Given the description of an element on the screen output the (x, y) to click on. 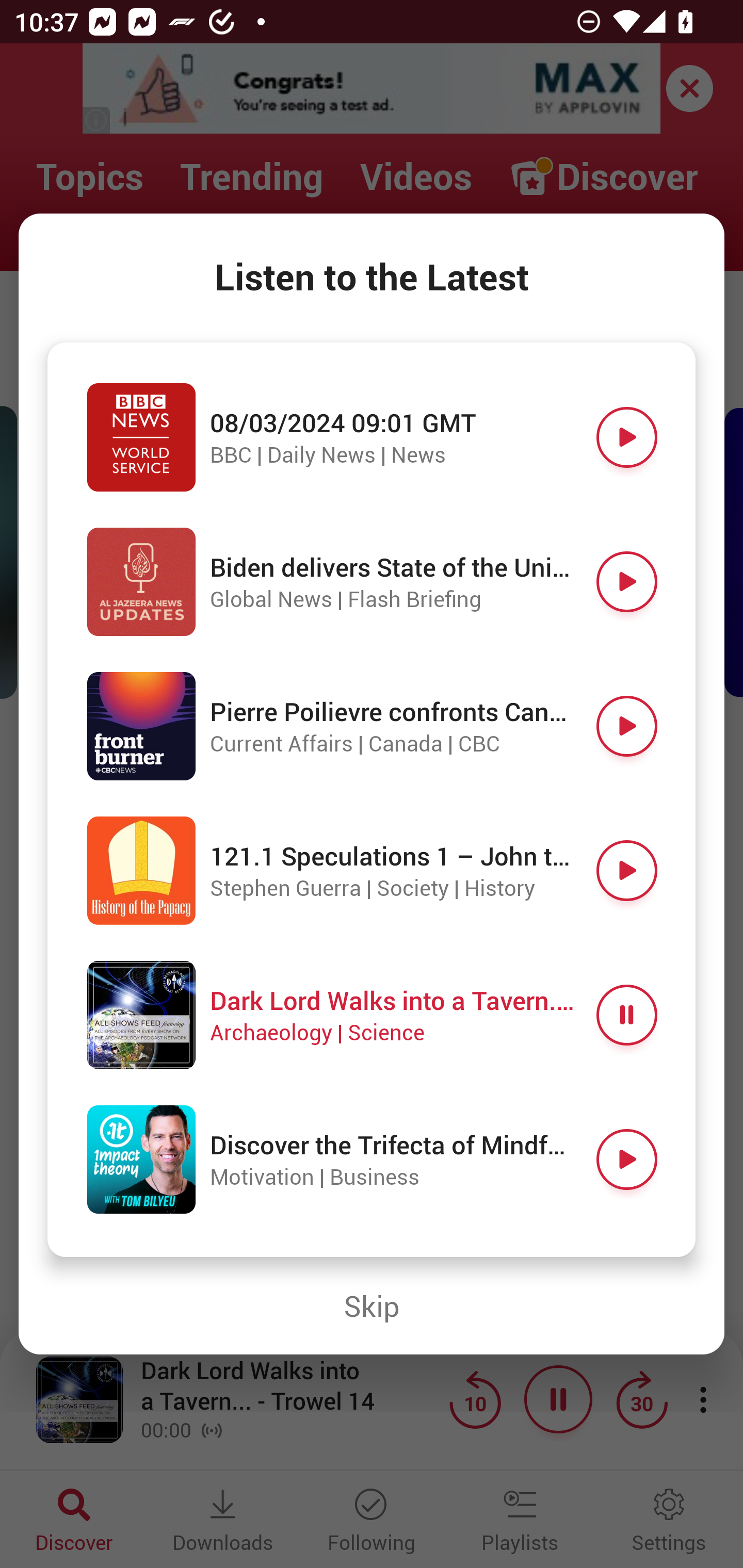
Skip (371, 1305)
